Given the description of an element on the screen output the (x, y) to click on. 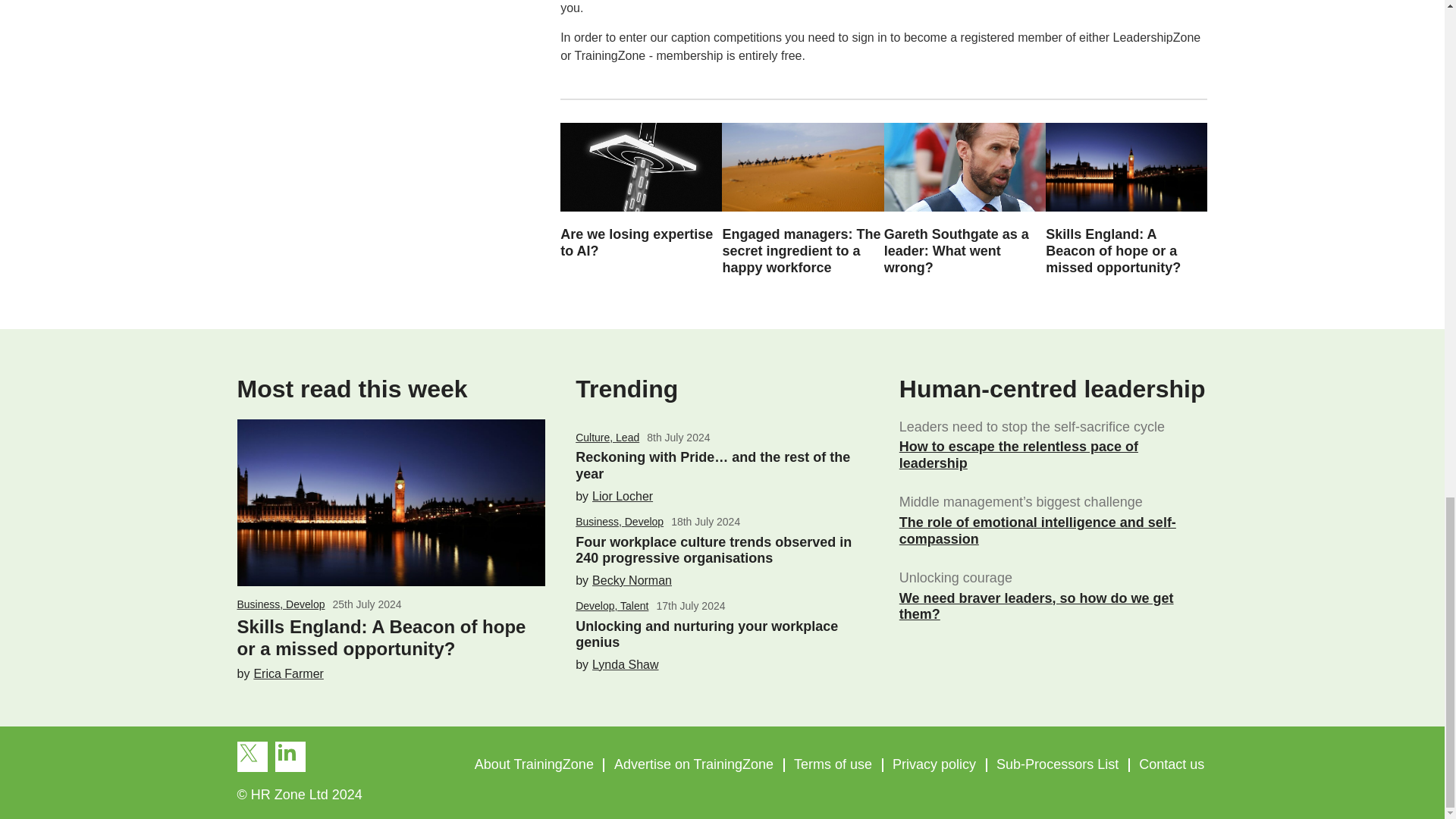
Are we losing expertise to AI? (636, 242)
